Given the description of an element on the screen output the (x, y) to click on. 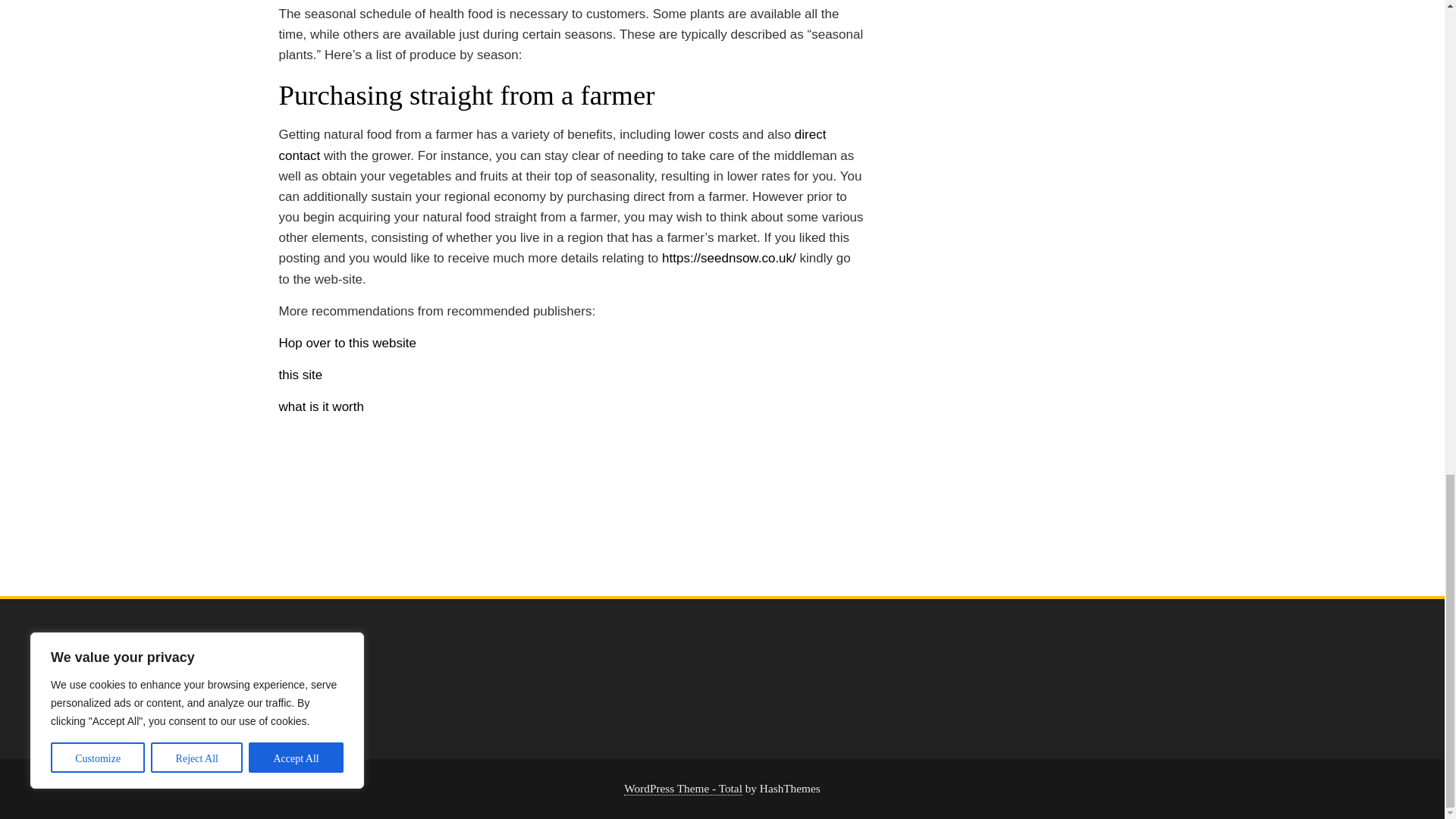
this site (301, 374)
Hop over to this website (347, 342)
what is it worth (321, 406)
direct contact (553, 144)
